Given the description of an element on the screen output the (x, y) to click on. 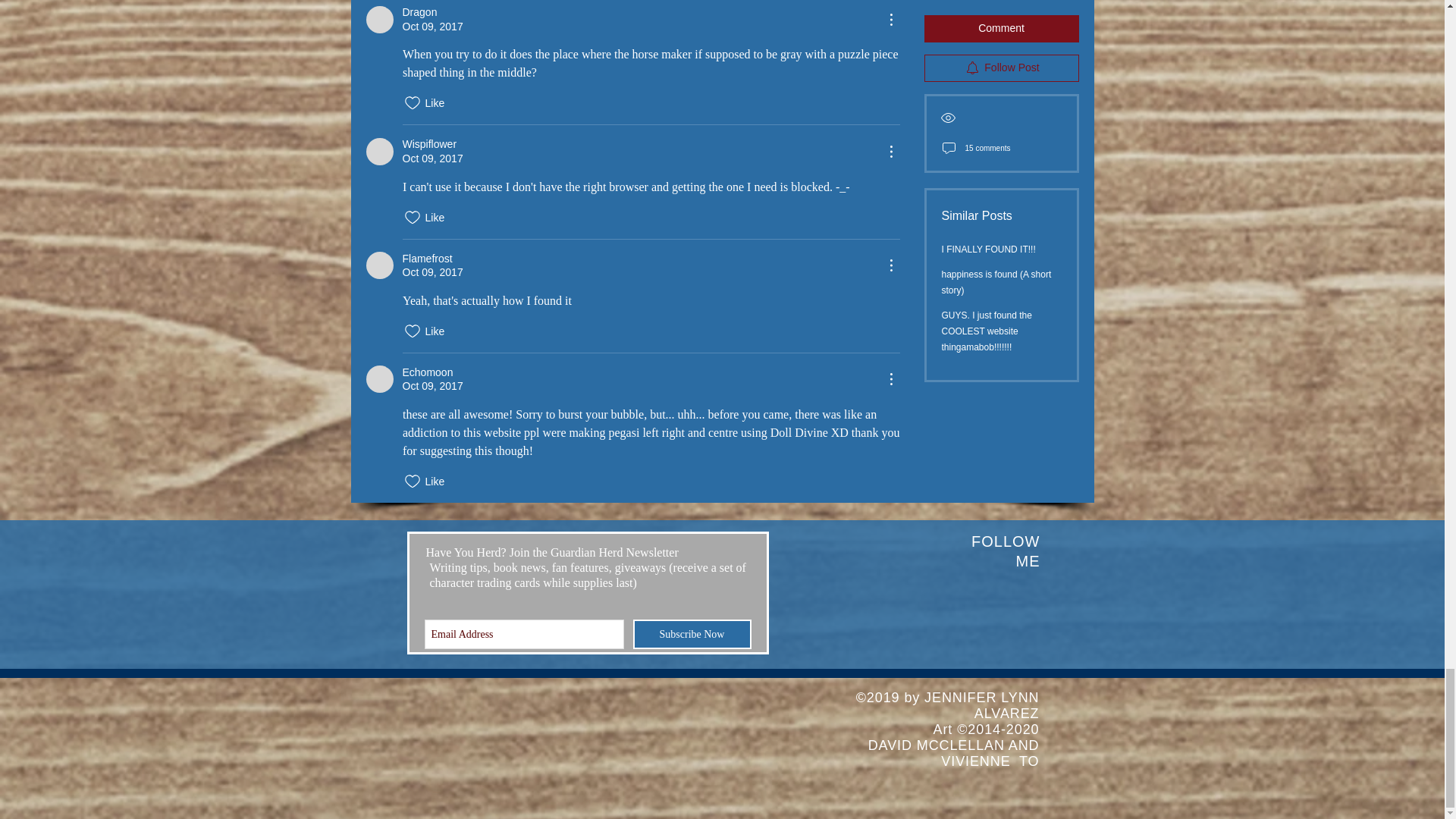
Flamefrost (379, 265)
Echomoon (379, 379)
Dragon (379, 19)
Wispiflower  (379, 151)
